Given the description of an element on the screen output the (x, y) to click on. 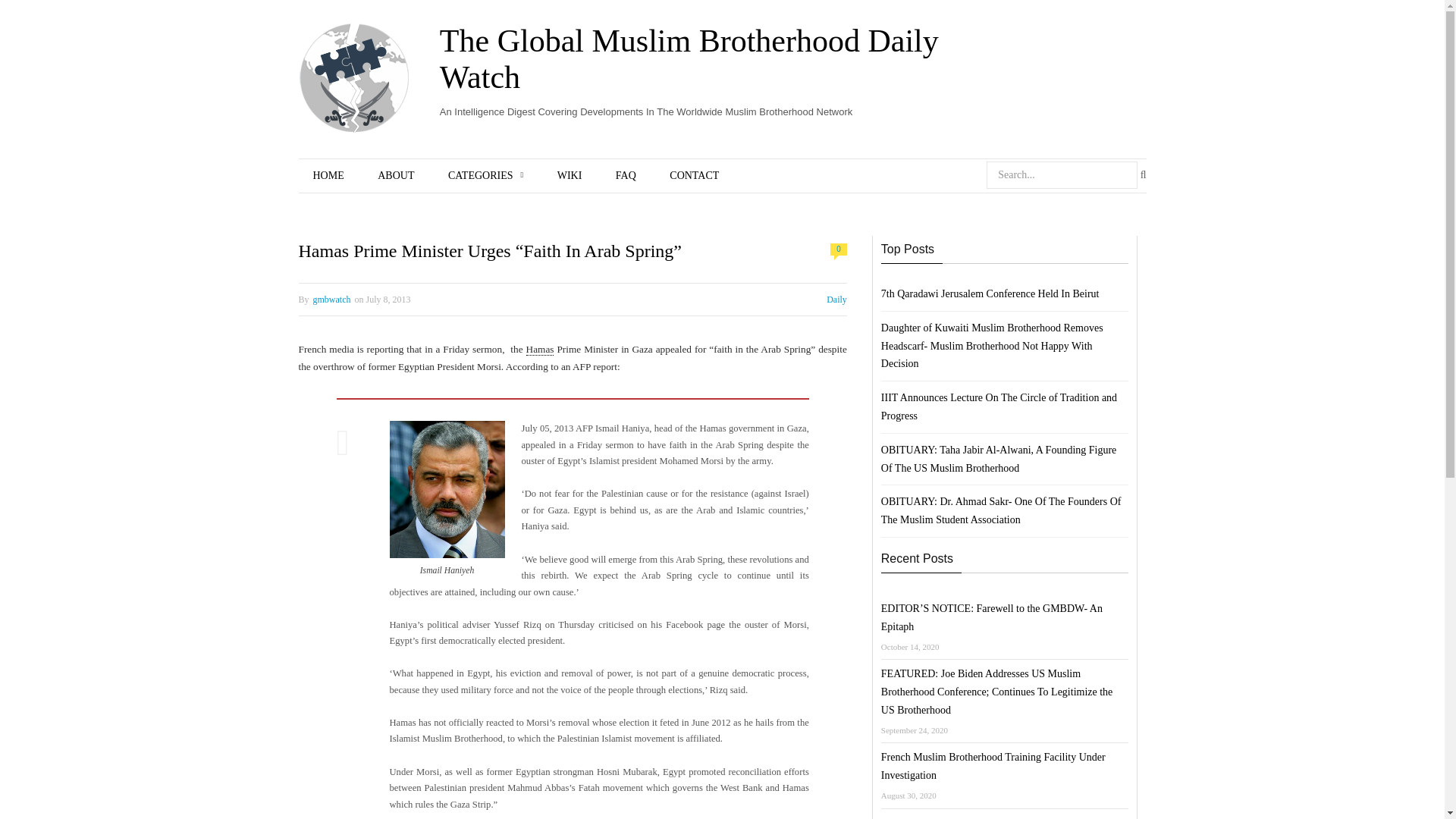
Search for: (1062, 175)
Daily (837, 299)
gmbwatch (331, 299)
Posts by gmbwatch (331, 299)
FAQ (625, 175)
WIKI (569, 175)
CONTACT (693, 175)
CATEGORIES (485, 175)
ABOUT (395, 175)
HOME (327, 175)
Hamas (539, 349)
